Given the description of an element on the screen output the (x, y) to click on. 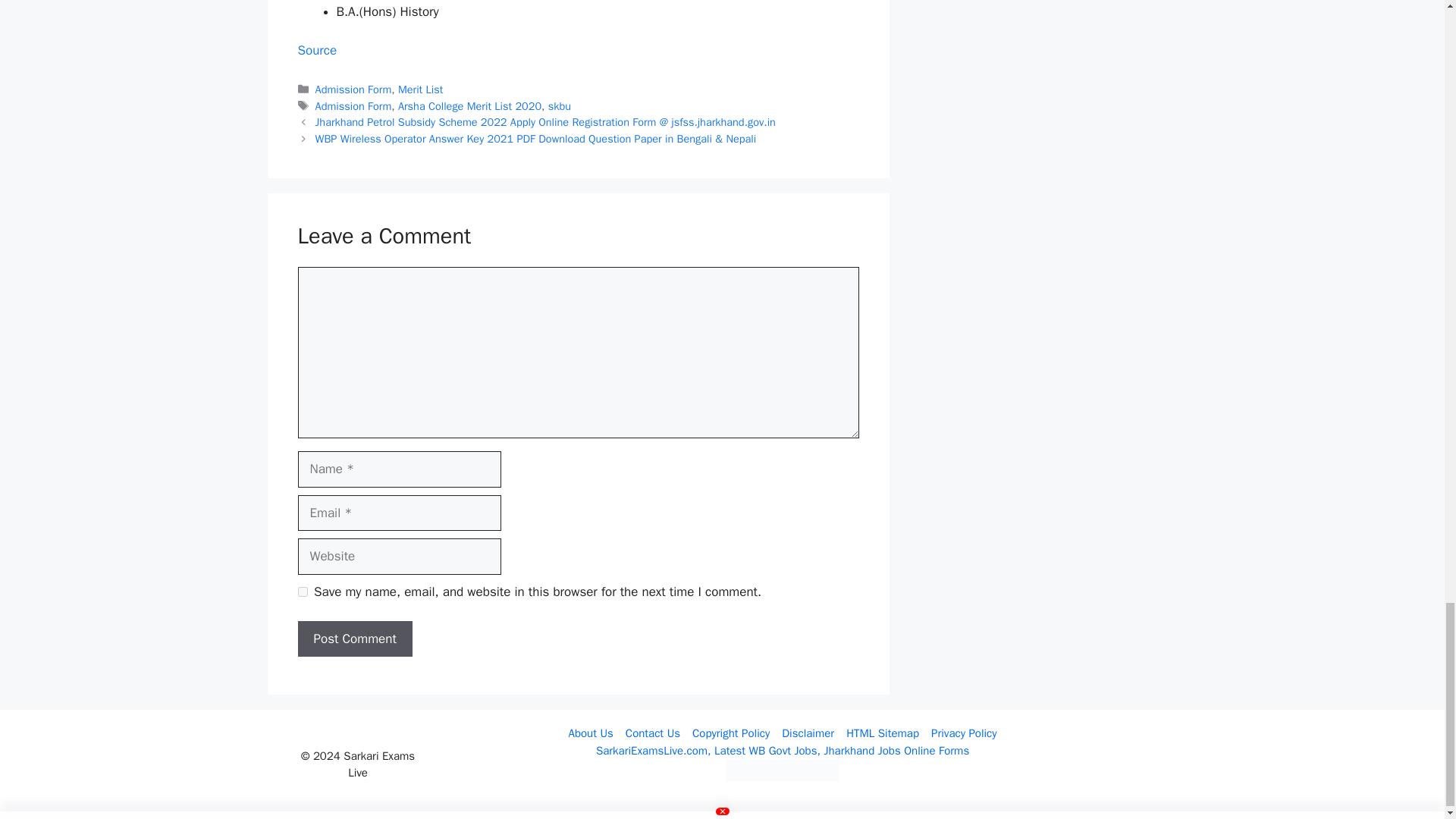
Source (316, 50)
skbu (559, 106)
Post Comment (354, 638)
Merit List (419, 89)
DMCA.com Protection Status (782, 777)
Arsha College Merit List 2020 (469, 106)
Admission Form (353, 89)
Admission Form (353, 106)
yes (302, 592)
Post Comment (354, 638)
